Given the description of an element on the screen output the (x, y) to click on. 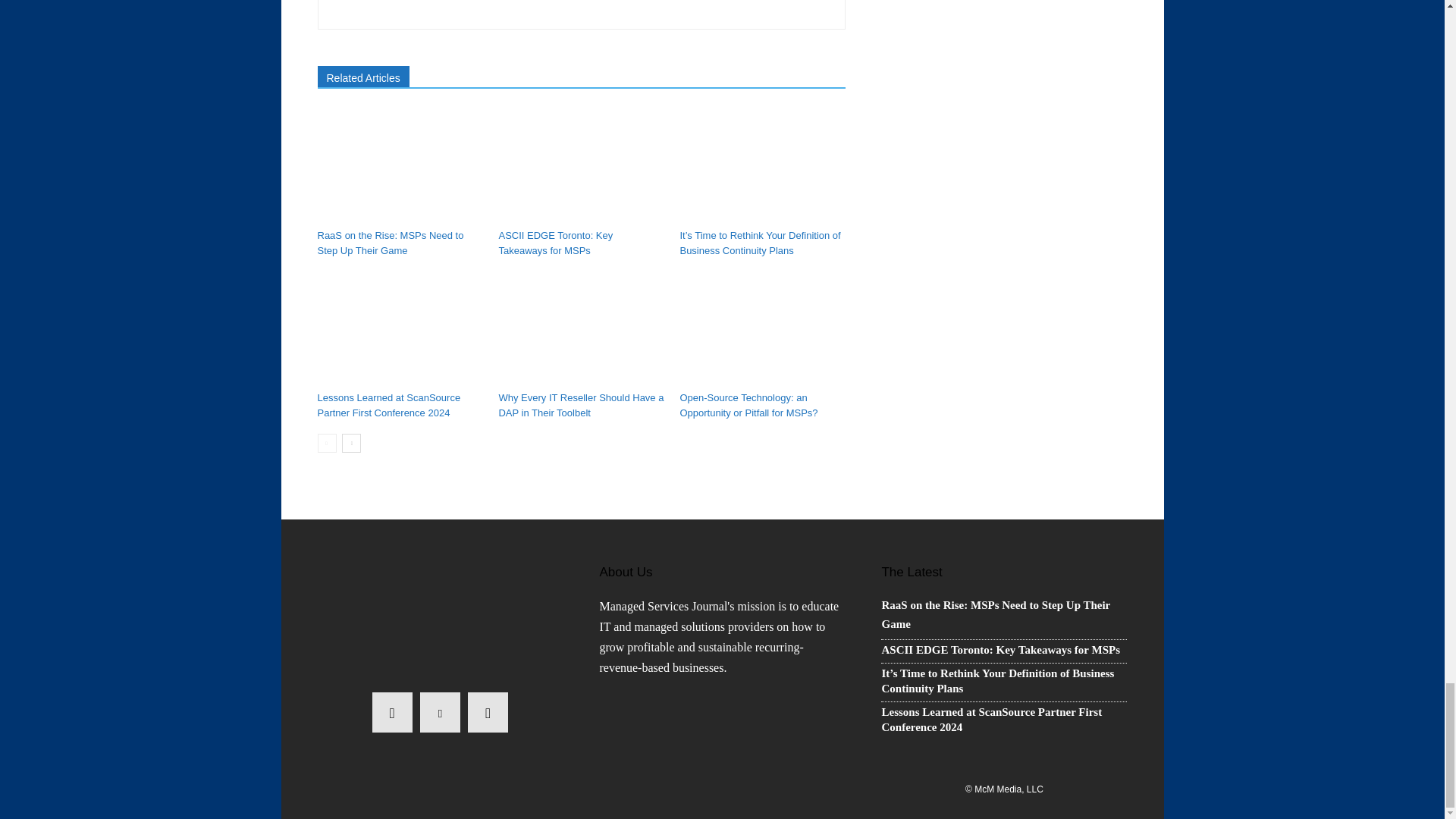
ASCII EDGE Toronto: Key Takeaways for MSPs (554, 243)
ASCII EDGE Toronto: Key Takeaways for MSPs (580, 165)
RaaS on the Rise: MSPs Need to Step Up Their Game (399, 165)
RaaS on the Rise: MSPs Need to Step Up Their Game (390, 243)
